Given the description of an element on the screen output the (x, y) to click on. 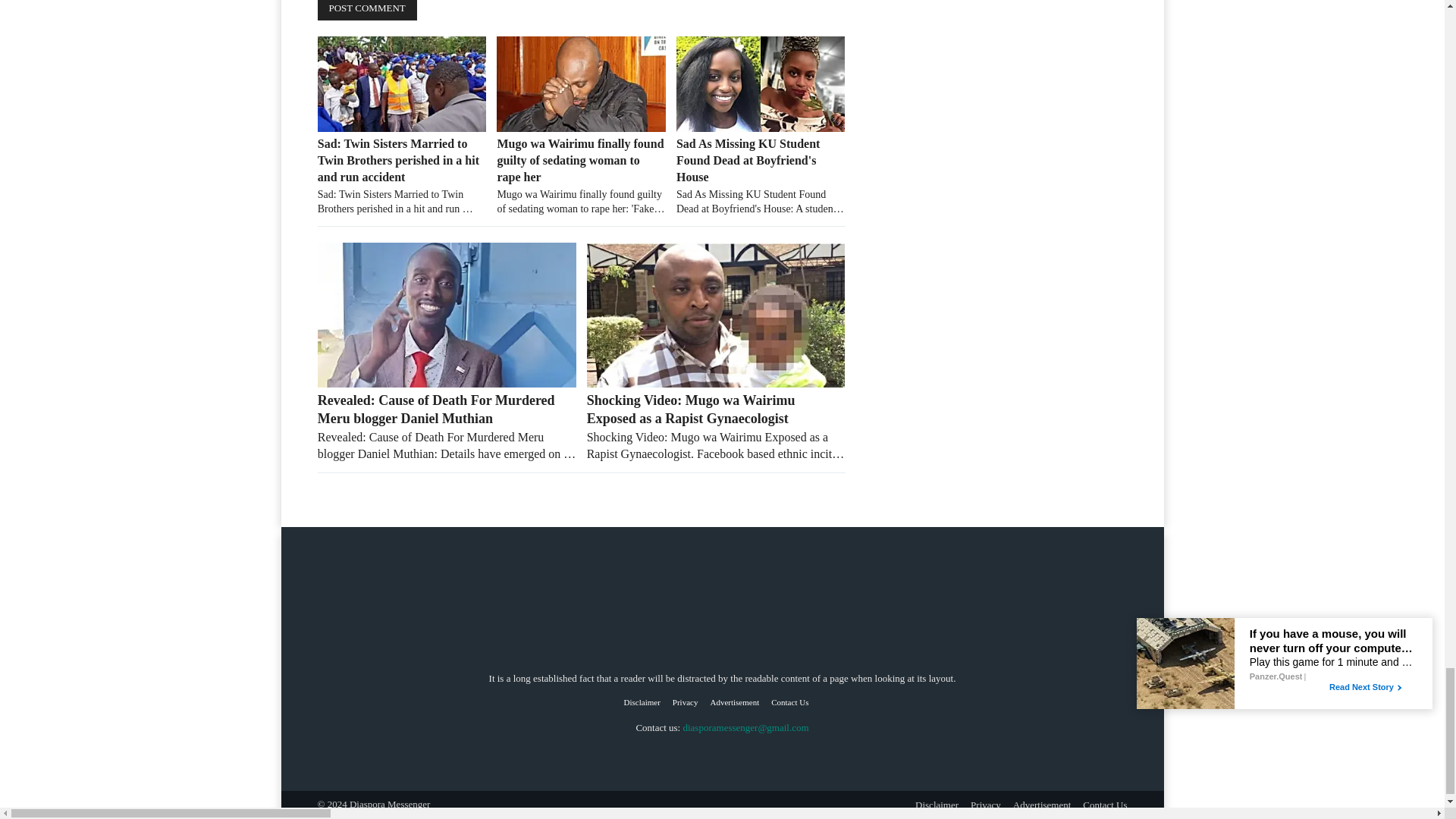
Post Comment (366, 10)
